Given the description of an element on the screen output the (x, y) to click on. 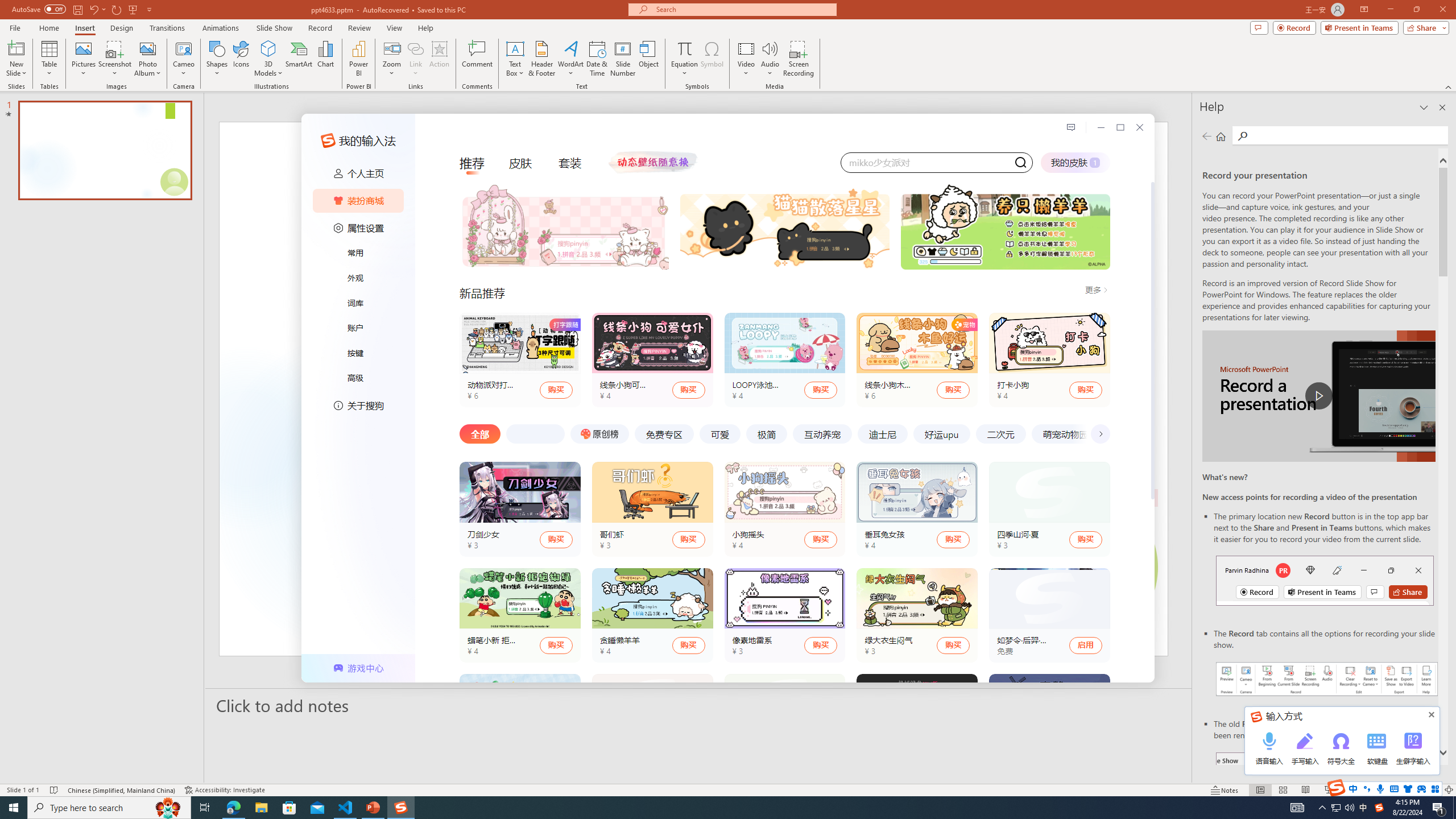
3D Models (268, 48)
WordArt (570, 58)
